Given the description of an element on the screen output the (x, y) to click on. 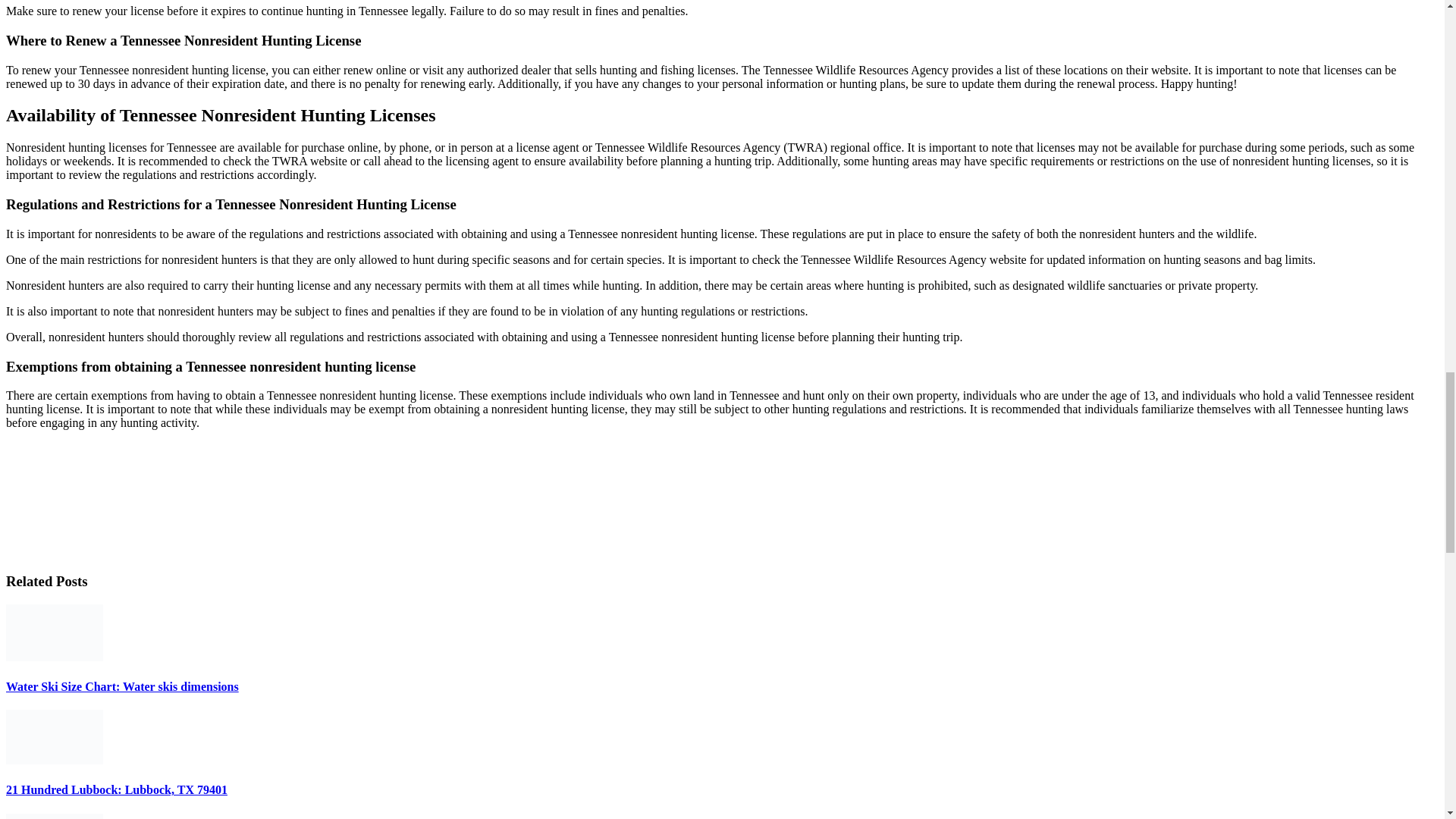
Tennessee Non Resident Hunting License (118, 499)
